Given the description of an element on the screen output the (x, y) to click on. 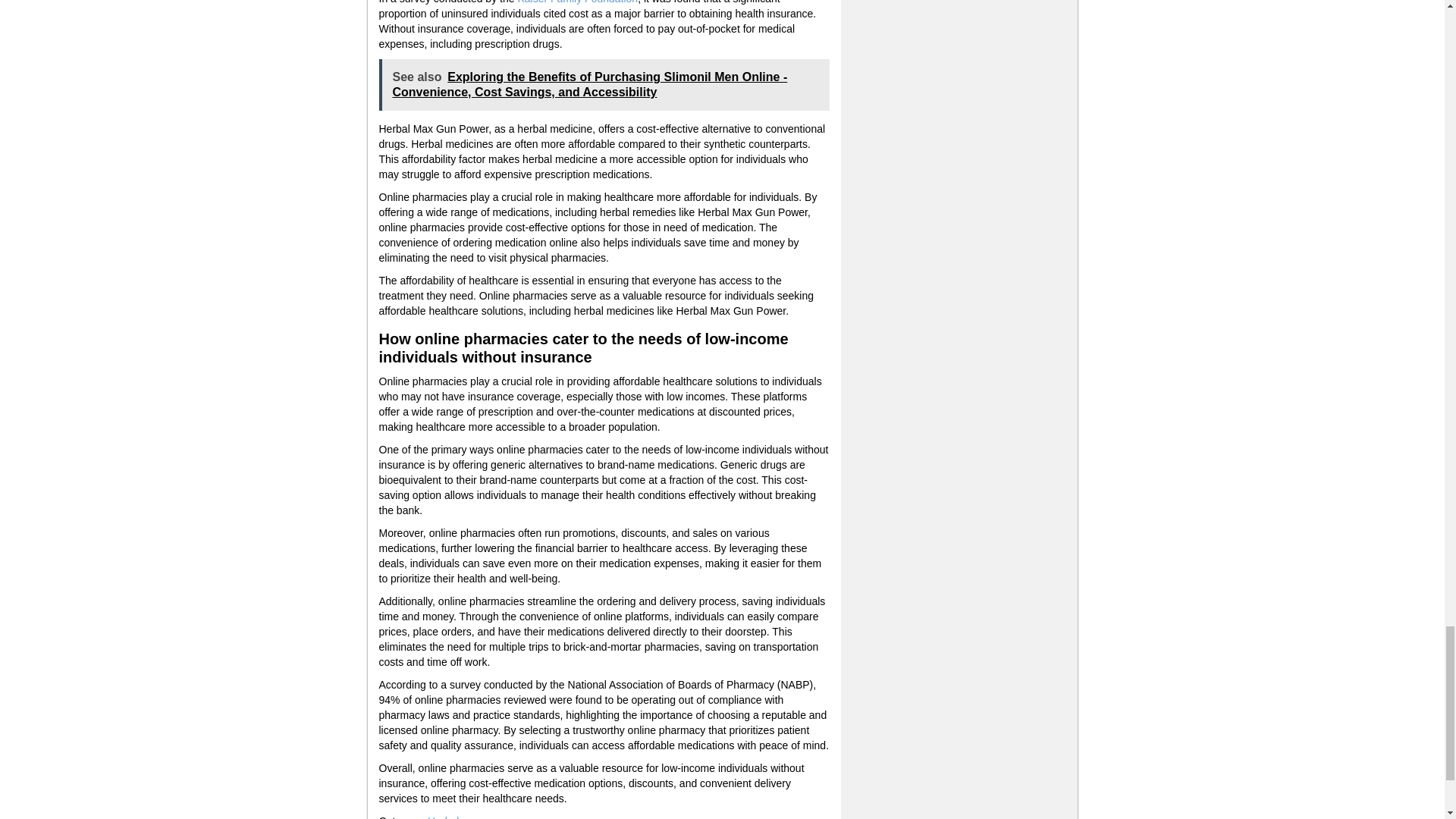
Herbals (446, 816)
Kaiser Family Foundation (576, 2)
